Given the description of an element on the screen output the (x, y) to click on. 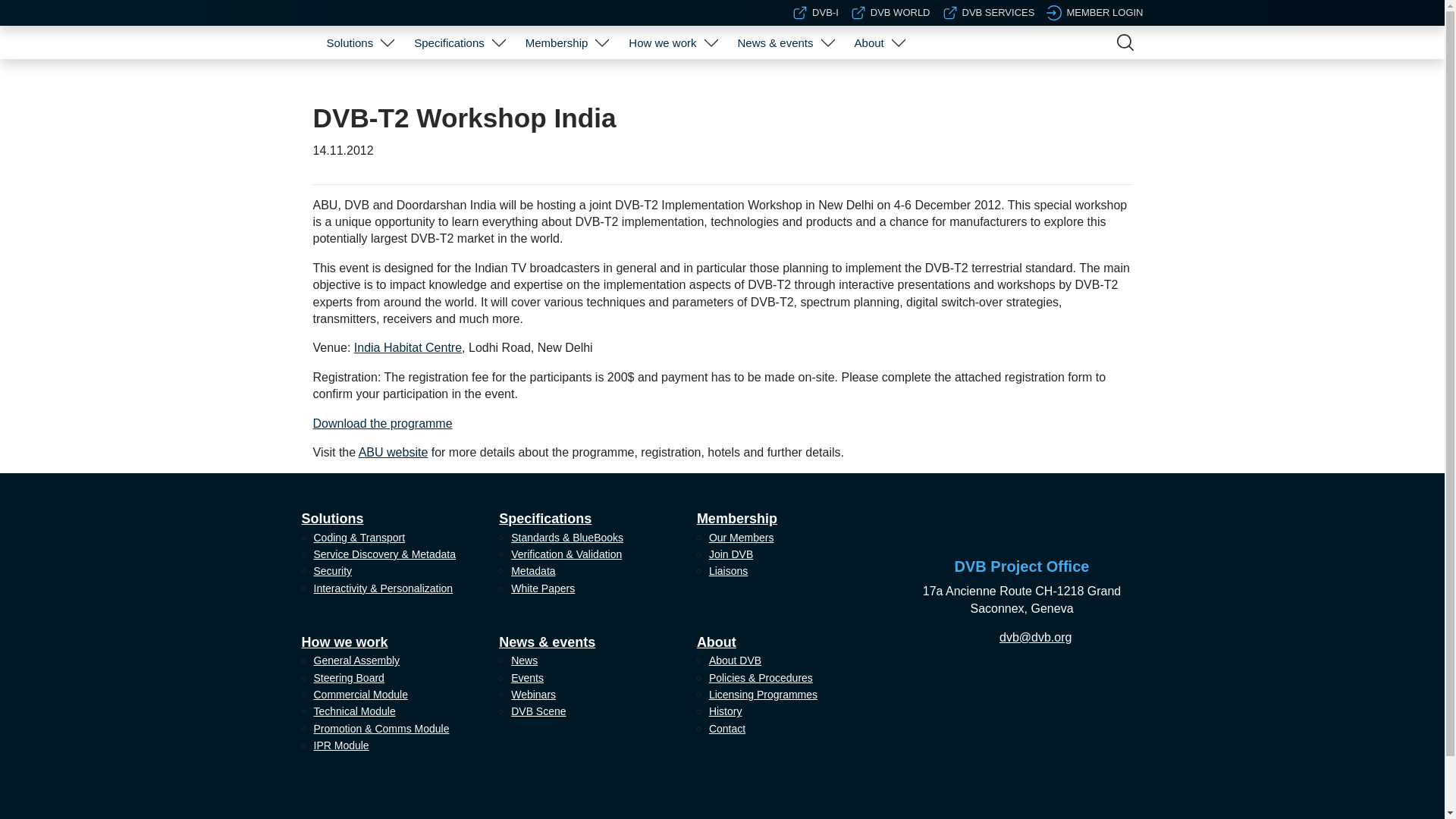
Our Members (564, 80)
General Assembly (670, 80)
Membership (556, 41)
DVB WORLD (890, 12)
About (868, 41)
How we work (662, 41)
Solutions (349, 41)
Specifications (448, 41)
News (783, 80)
MEMBER LOGIN (1094, 12)
